Given the description of an element on the screen output the (x, y) to click on. 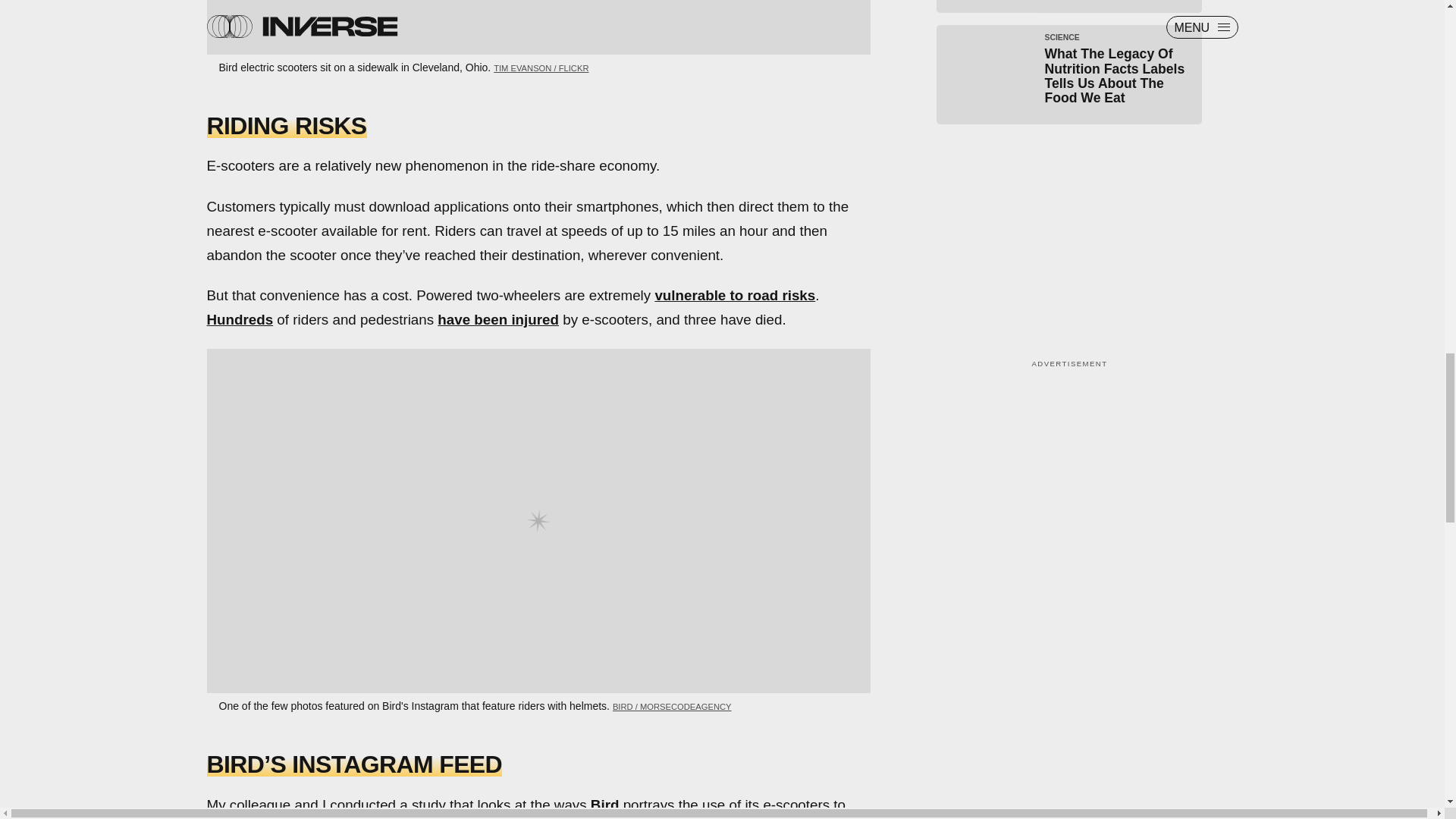
Bird (605, 804)
have been injured (498, 319)
Hundreds (239, 319)
vulnerable to road risks (734, 295)
